Given the description of an element on the screen output the (x, y) to click on. 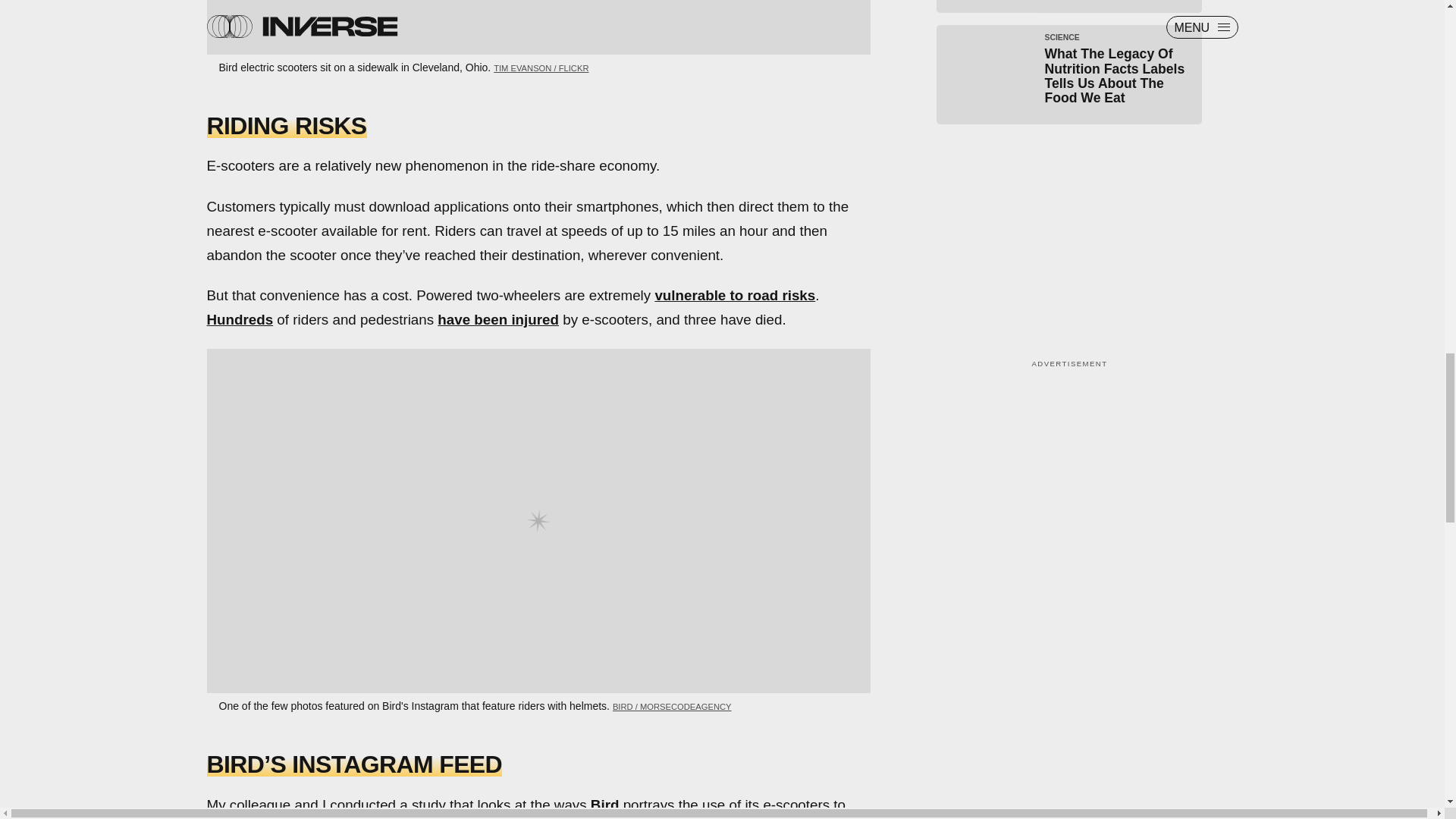
Bird (605, 804)
have been injured (498, 319)
Hundreds (239, 319)
vulnerable to road risks (734, 295)
